Given the description of an element on the screen output the (x, y) to click on. 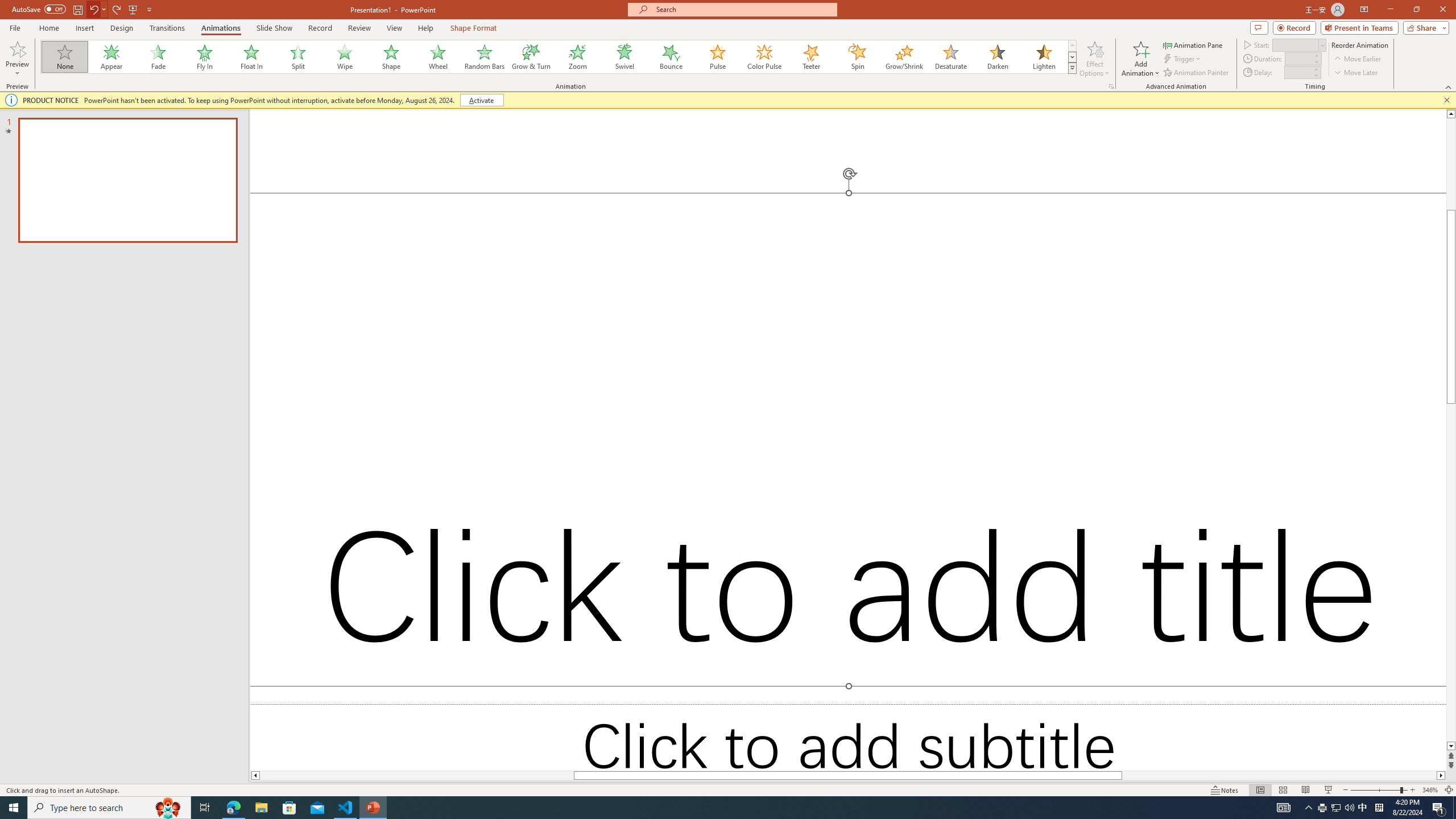
Darken (997, 56)
Trigger (1182, 58)
Float In (251, 56)
AutomationID: AnimationGallery (558, 56)
More Options... (1110, 85)
Animation Duration (1298, 58)
